Given the description of an element on the screen output the (x, y) to click on. 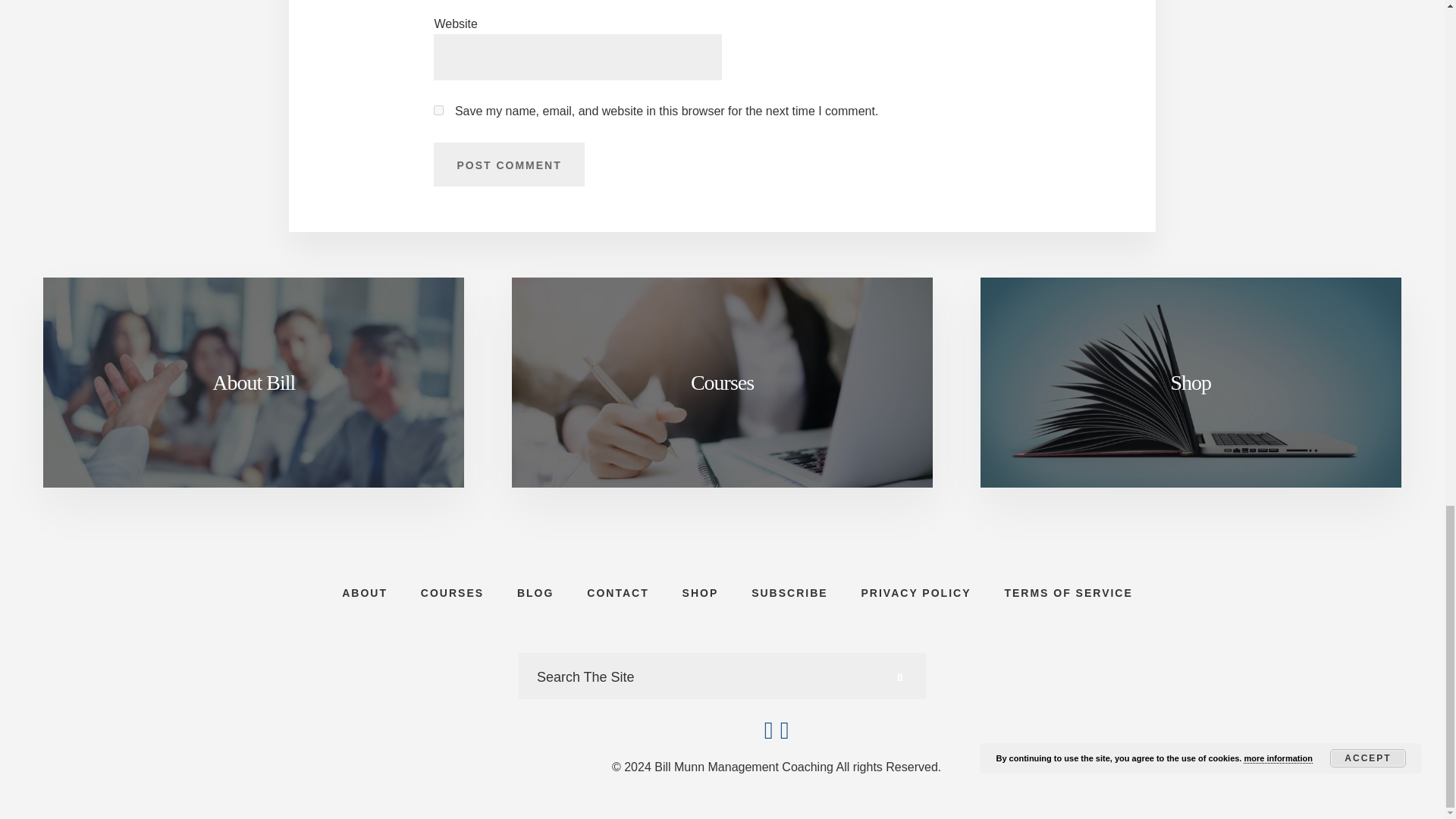
TERMS OF SERVICE (1067, 592)
Shop (1189, 382)
Courses (722, 382)
ABOUT (364, 592)
yes (438, 110)
Post Comment (508, 164)
Post Comment (508, 164)
SUBSCRIBE (789, 592)
Search (899, 675)
About Bill (253, 382)
CONTACT (617, 592)
SHOP (699, 592)
Shop (1189, 382)
PRIVACY POLICY (916, 592)
COURSES (452, 592)
